Given the description of an element on the screen output the (x, y) to click on. 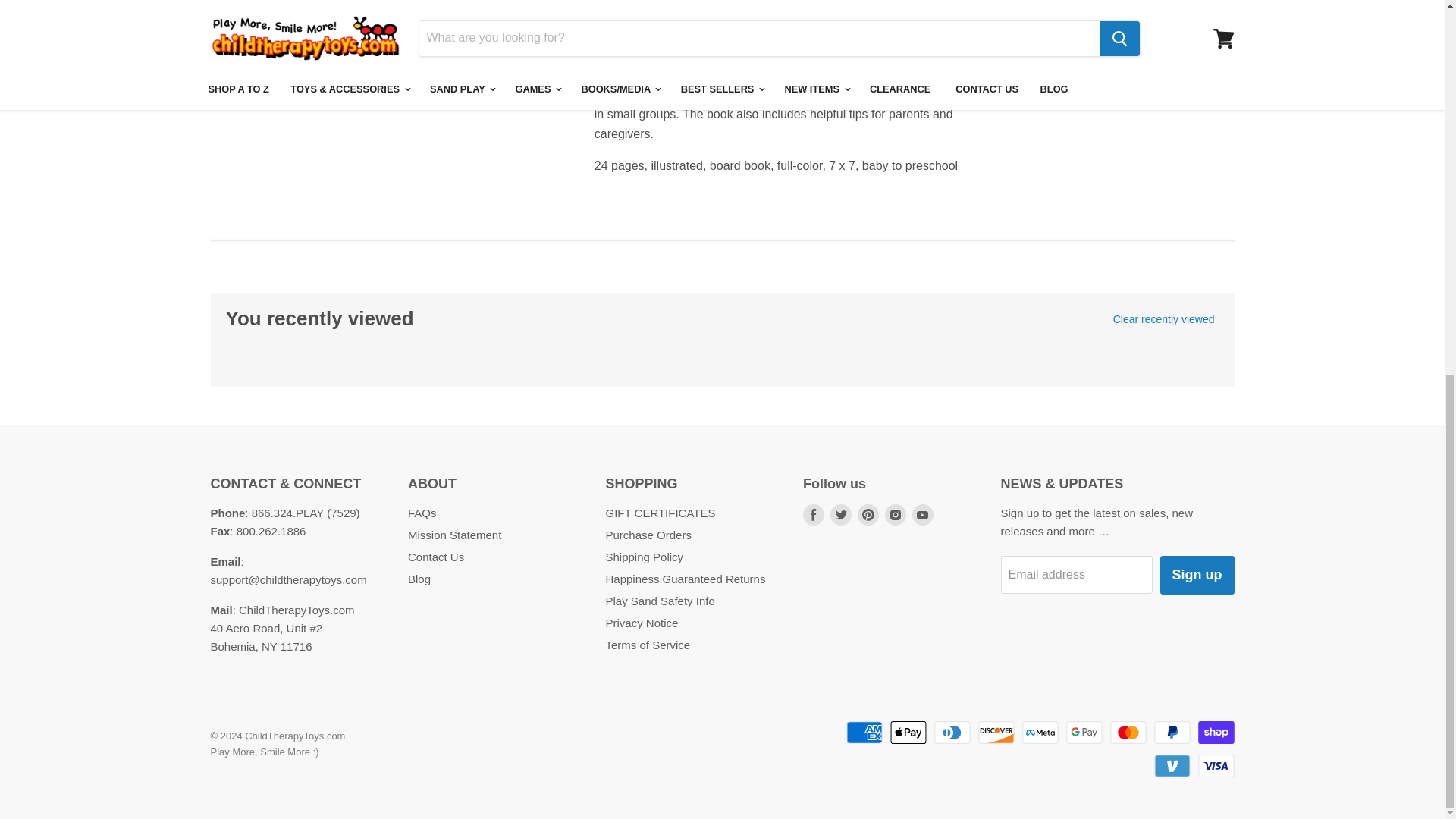
Youtube (922, 514)
Instagram (895, 514)
Pinterest (868, 514)
Twitter (840, 514)
Facebook (813, 514)
